Given the description of an element on the screen output the (x, y) to click on. 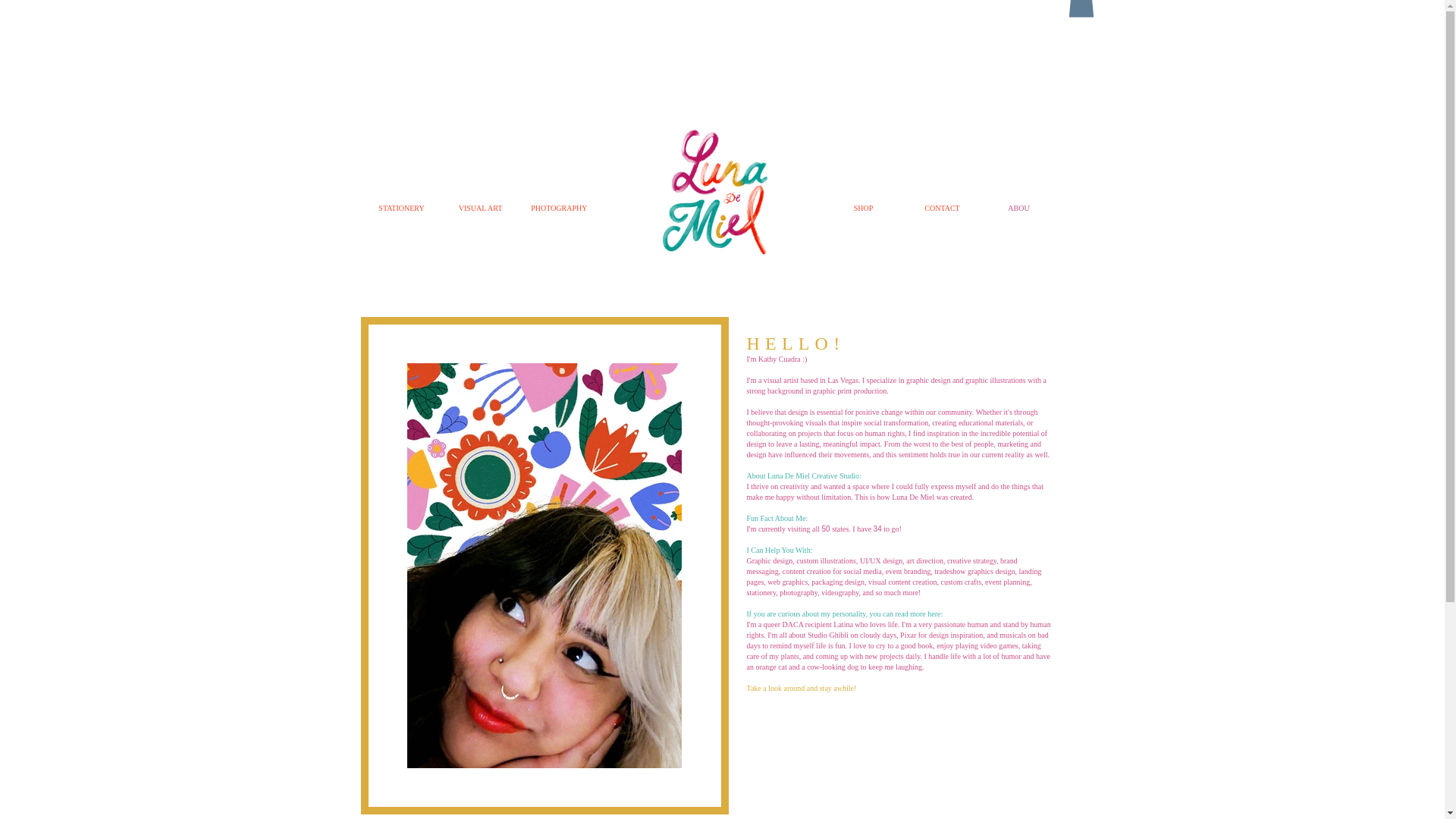
VISUAL ART (480, 208)
STATIONERY (1098, 207)
STATIONERY (401, 208)
SHOP (863, 207)
CONTACT (941, 207)
ABOUT (1020, 207)
PHOTOGRAPHY (558, 208)
VISUAL ART (1177, 207)
PHOTOGRAPHY (1257, 207)
